Given the description of an element on the screen output the (x, y) to click on. 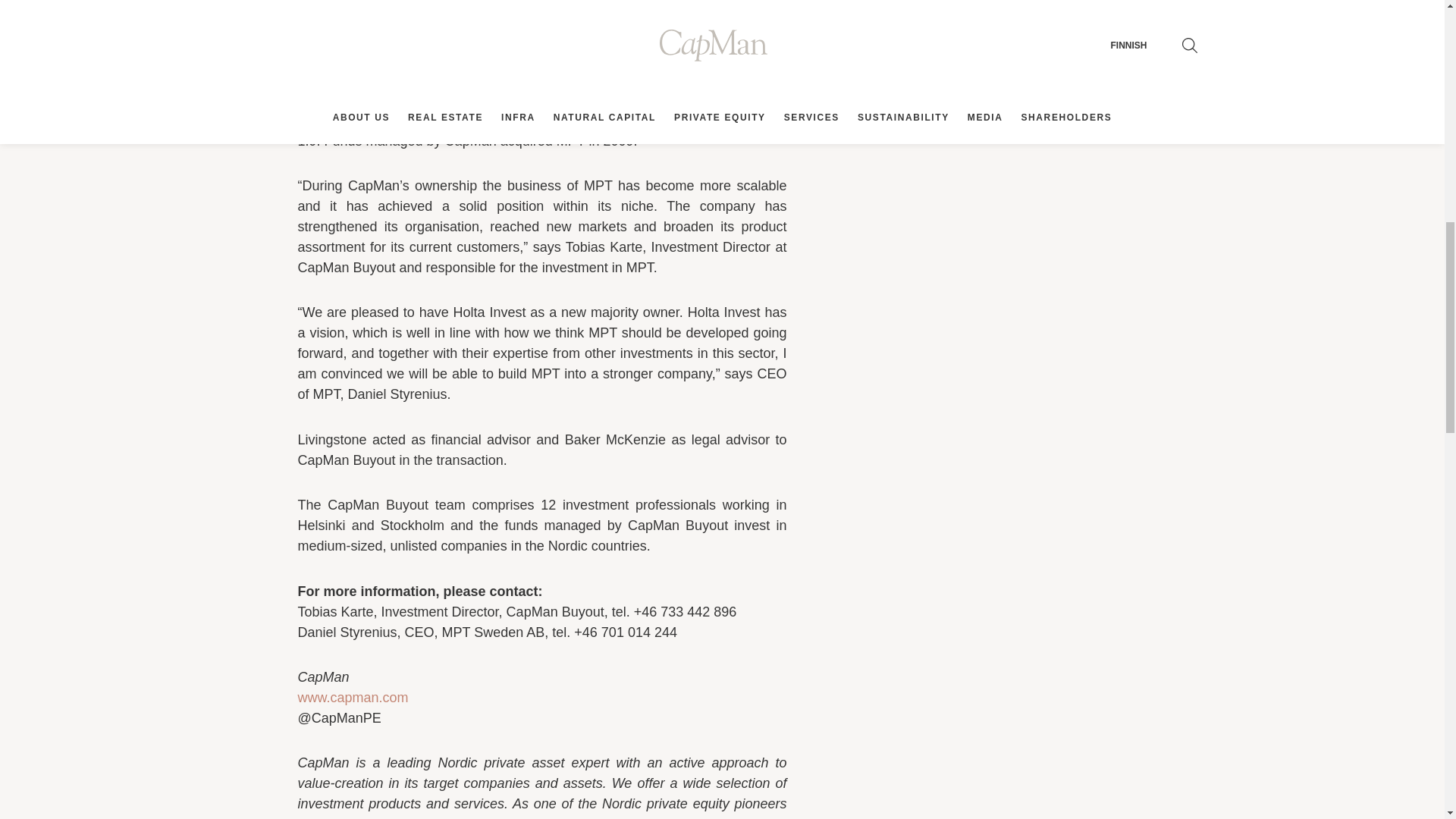
www.capman.com (352, 697)
